Given the description of an element on the screen output the (x, y) to click on. 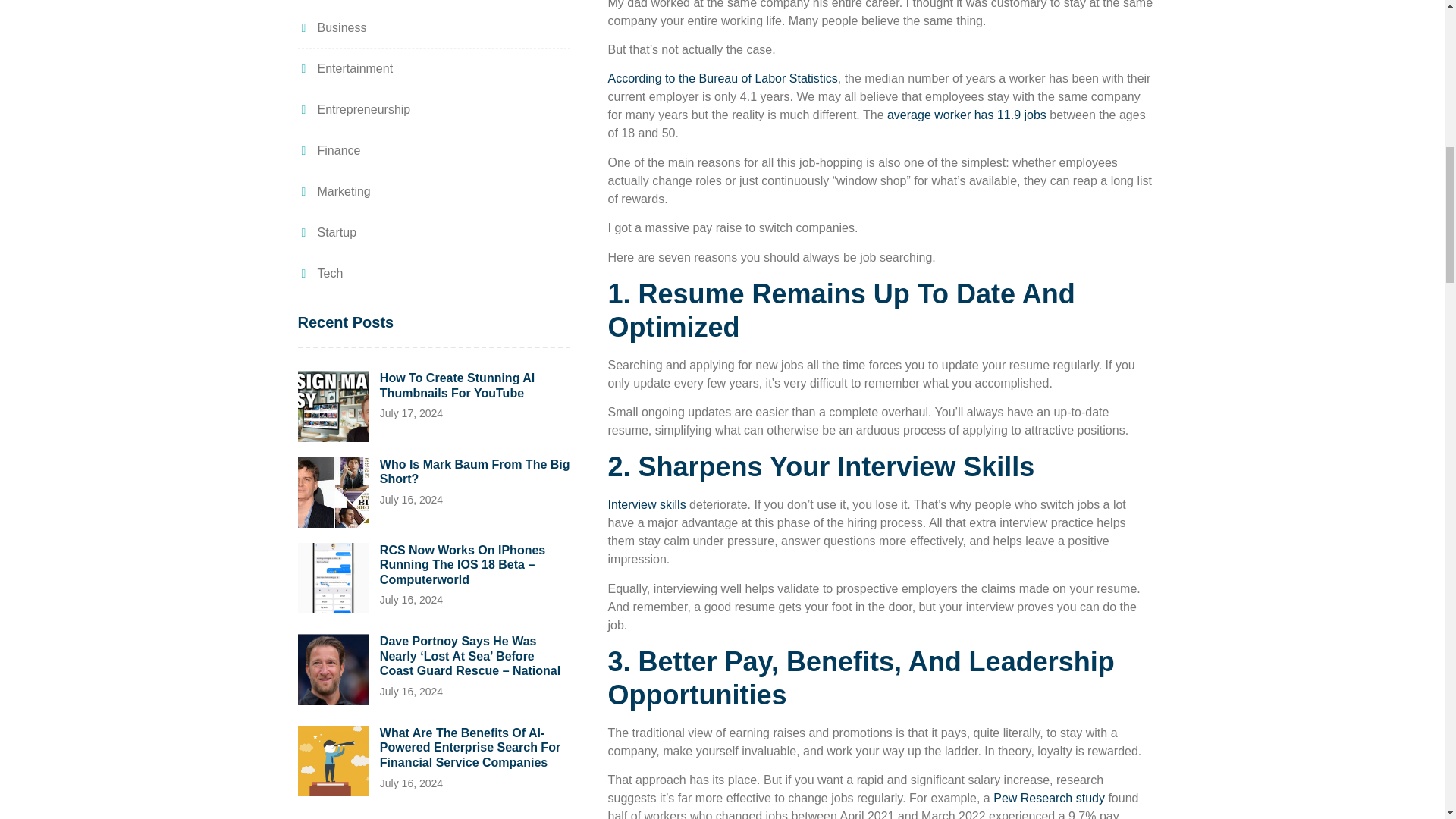
Entertainment (345, 68)
Entrepreneurship (353, 109)
Marketing (333, 191)
Startup (326, 232)
Finance (328, 150)
Tech (319, 273)
Business (331, 27)
How To Create Stunning AI Thumbnails For YouTube (457, 385)
Who Is Mark Baum From The Big Short? (475, 471)
